Given the description of an element on the screen output the (x, y) to click on. 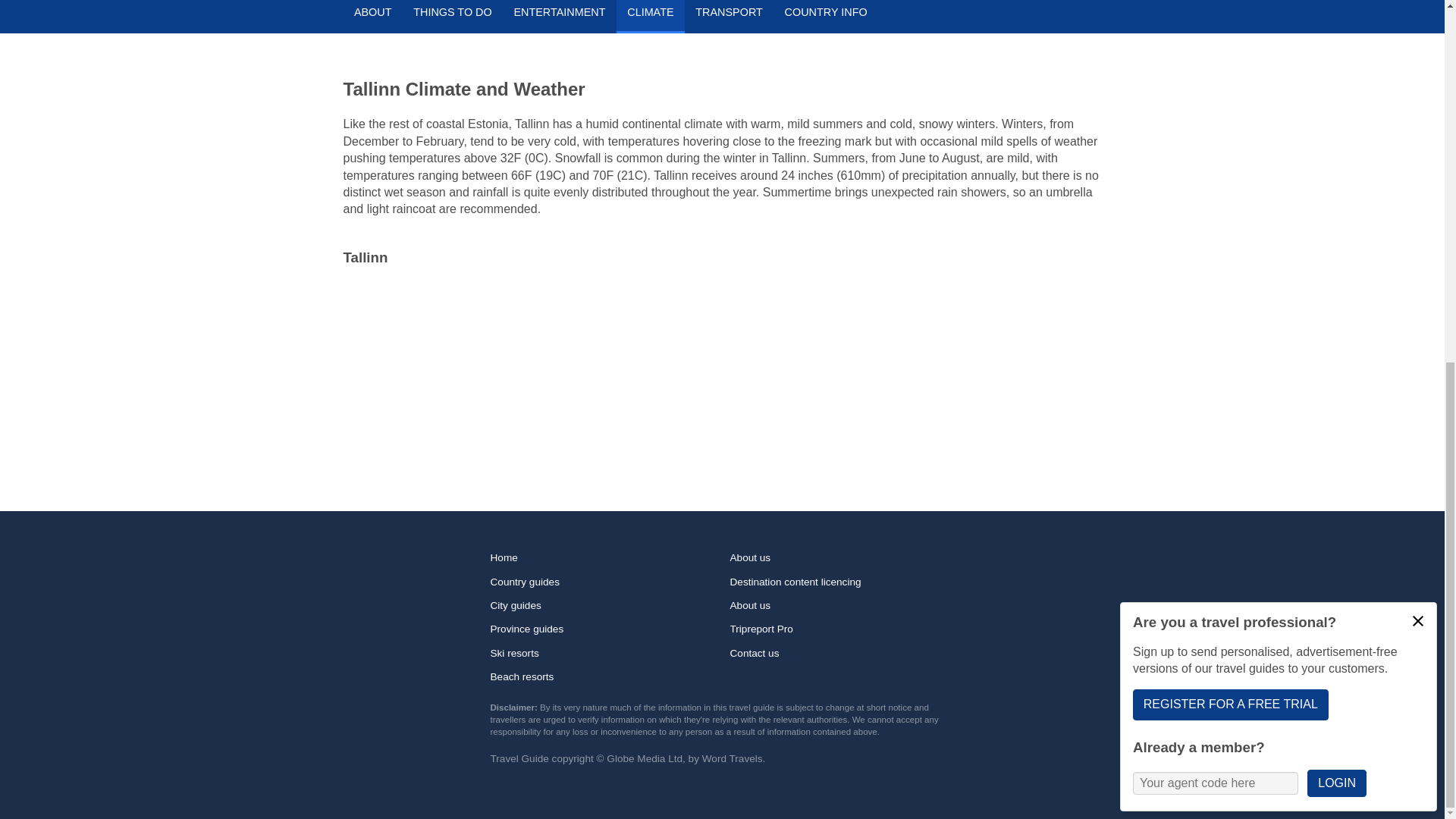
Country guides (601, 581)
Contact us (841, 652)
Ski resorts (601, 652)
Province guides (601, 628)
About us (841, 605)
CLIMATE (649, 16)
TRANSPORT (728, 16)
City guides (601, 605)
REGISTER FOR A FREE TRIAL (1229, 57)
About us (841, 557)
THINGS TO DO (452, 16)
Destination content licencing (841, 581)
Beach resorts (601, 676)
ABOUT (371, 16)
COUNTRY INFO (825, 16)
